Given the description of an element on the screen output the (x, y) to click on. 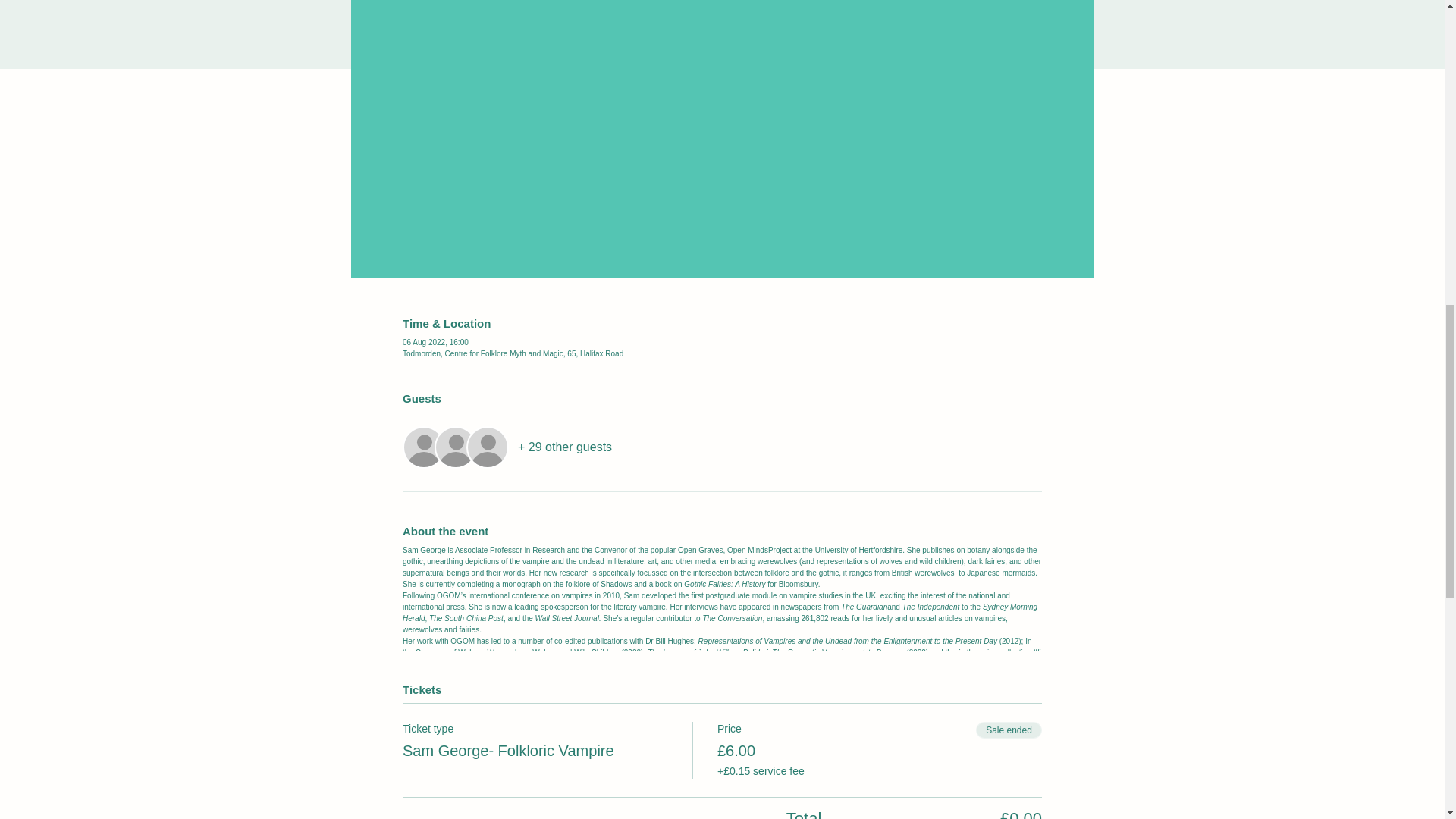
postgraduate module on vampire studies (773, 595)
vampires, werewolves and fairies. (705, 623)
botany (978, 550)
British werewolves (923, 572)
Open Graves, Open Minds (723, 550)
Japanese mermaids. (1001, 572)
